Given the description of an element on the screen output the (x, y) to click on. 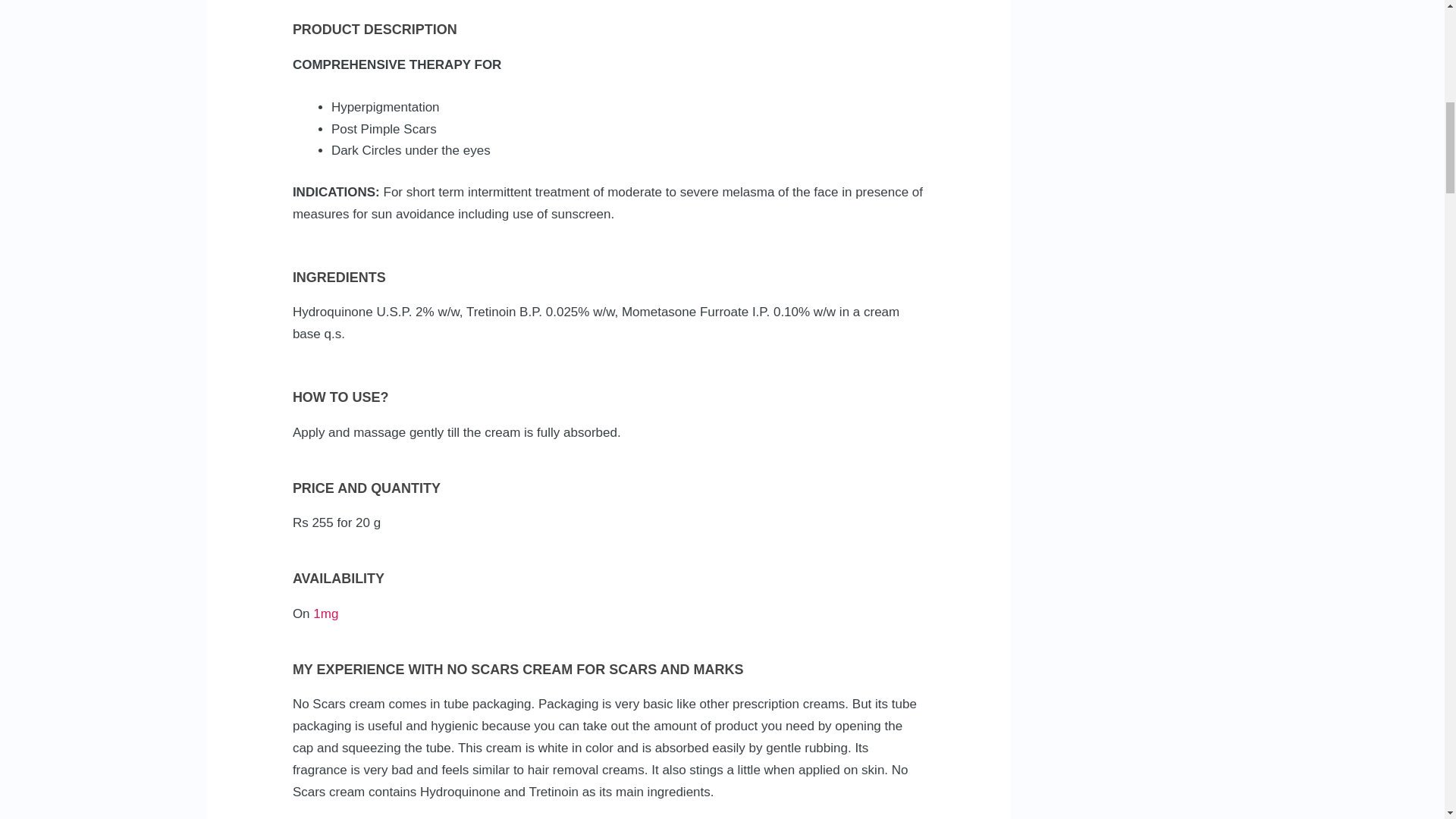
1mg (325, 613)
